Given the description of an element on the screen output the (x, y) to click on. 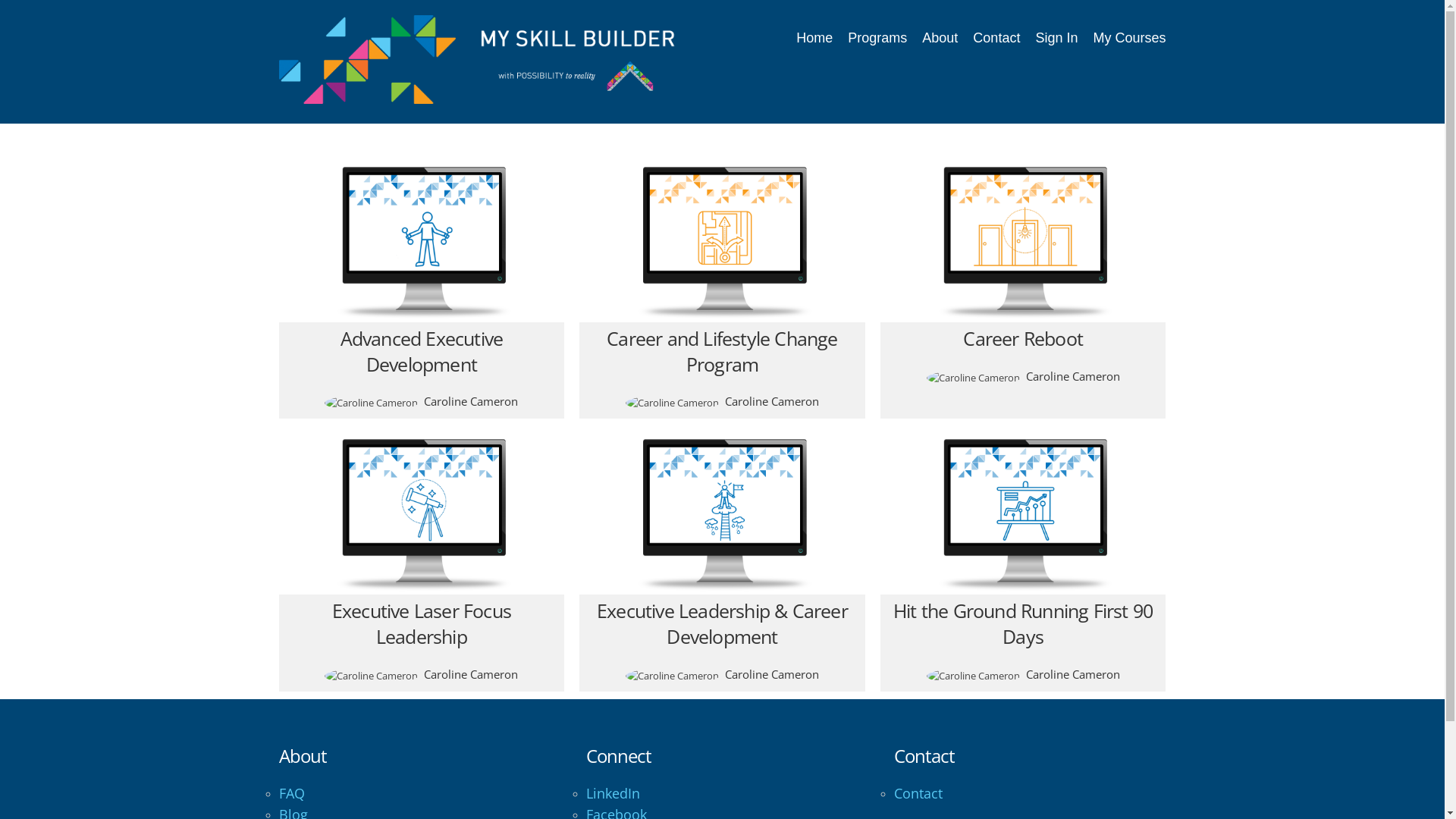
My Courses Element type: text (1128, 37)
Contact Element type: text (918, 793)
Hit the Ground Running First 90 Days
Caroline Cameron Element type: text (1023, 561)
Career and Lifestyle Change Program
Caroline Cameron Element type: text (722, 289)
LinkedIn Element type: text (613, 793)
Advanced Executive Development
Caroline Cameron Element type: text (421, 289)
My Skill Builder Element type: hover (492, 59)
FAQ Element type: text (291, 793)
Executive Leadership & Career Development
Caroline Cameron Element type: text (722, 561)
Executive Laser Focus Leadership
Caroline Cameron Element type: text (421, 561)
About Element type: text (939, 37)
Programs Element type: text (876, 37)
Career Reboot
Caroline Cameron Element type: text (1023, 277)
Sign In Element type: text (1056, 37)
Home Element type: text (814, 37)
Contact Element type: text (995, 37)
